Given the description of an element on the screen output the (x, y) to click on. 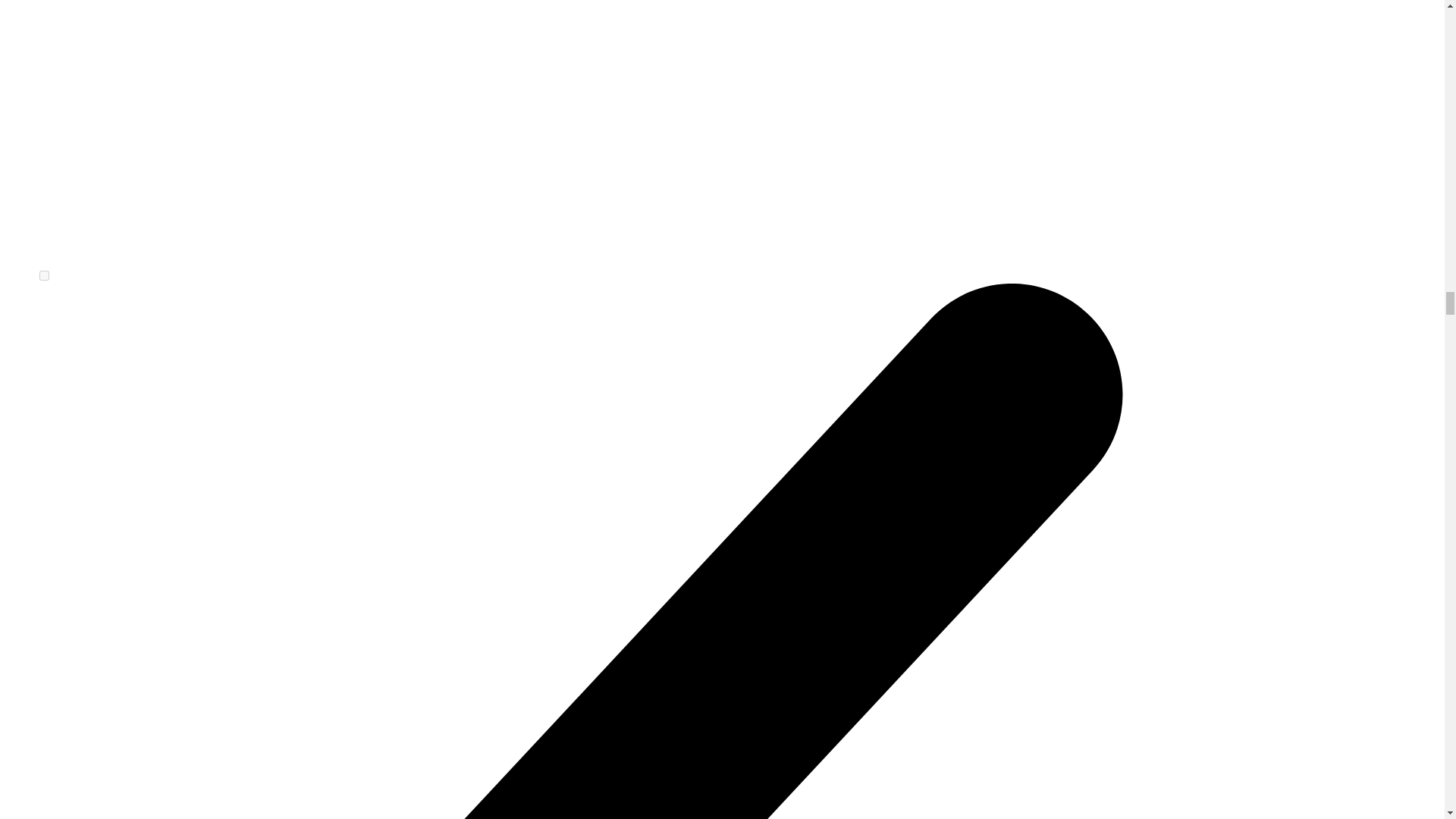
on (44, 275)
